Given the description of an element on the screen output the (x, y) to click on. 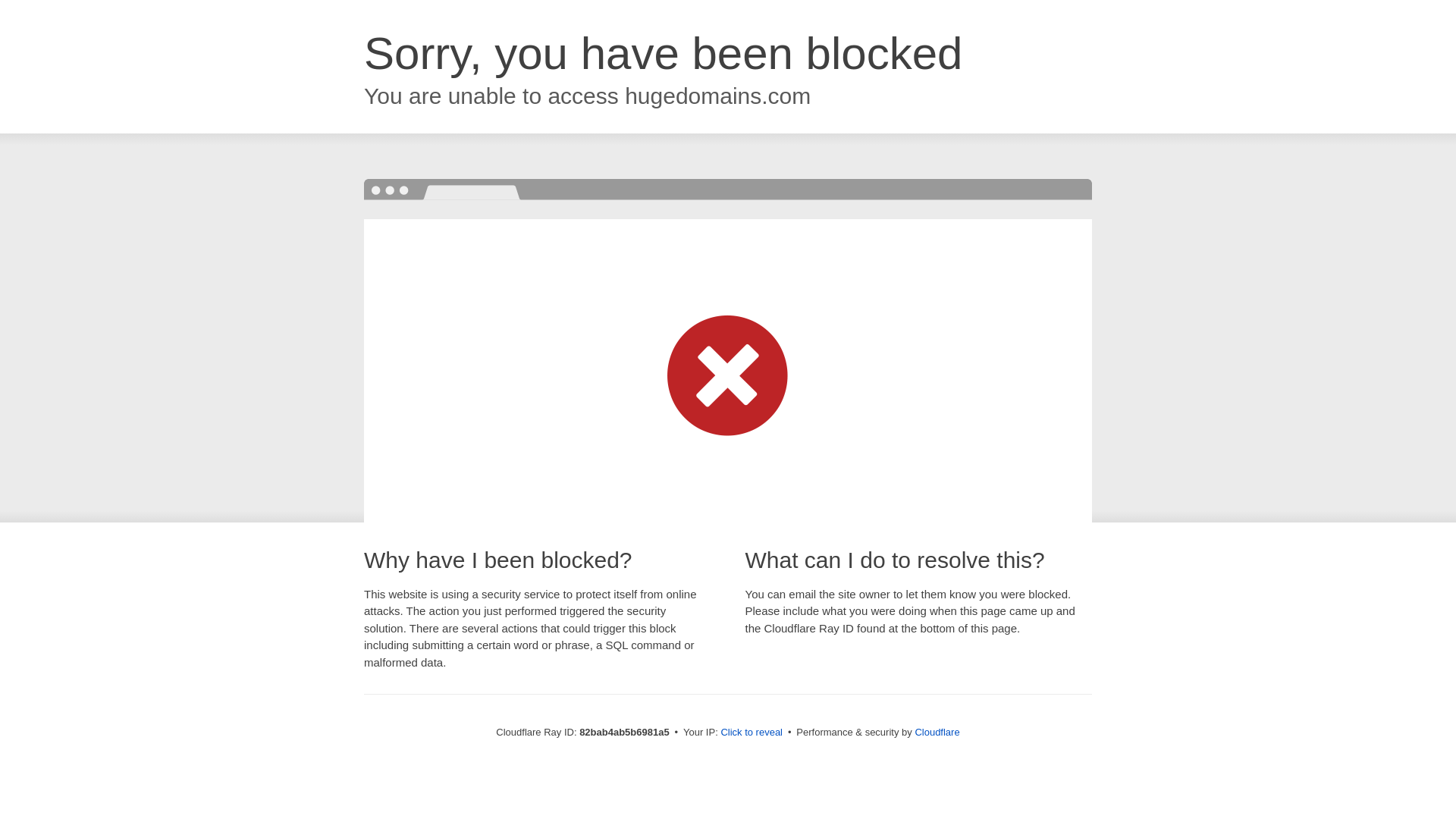
Click to reveal Element type: text (751, 732)
Cloudflare Element type: text (936, 731)
